Given the description of an element on the screen output the (x, y) to click on. 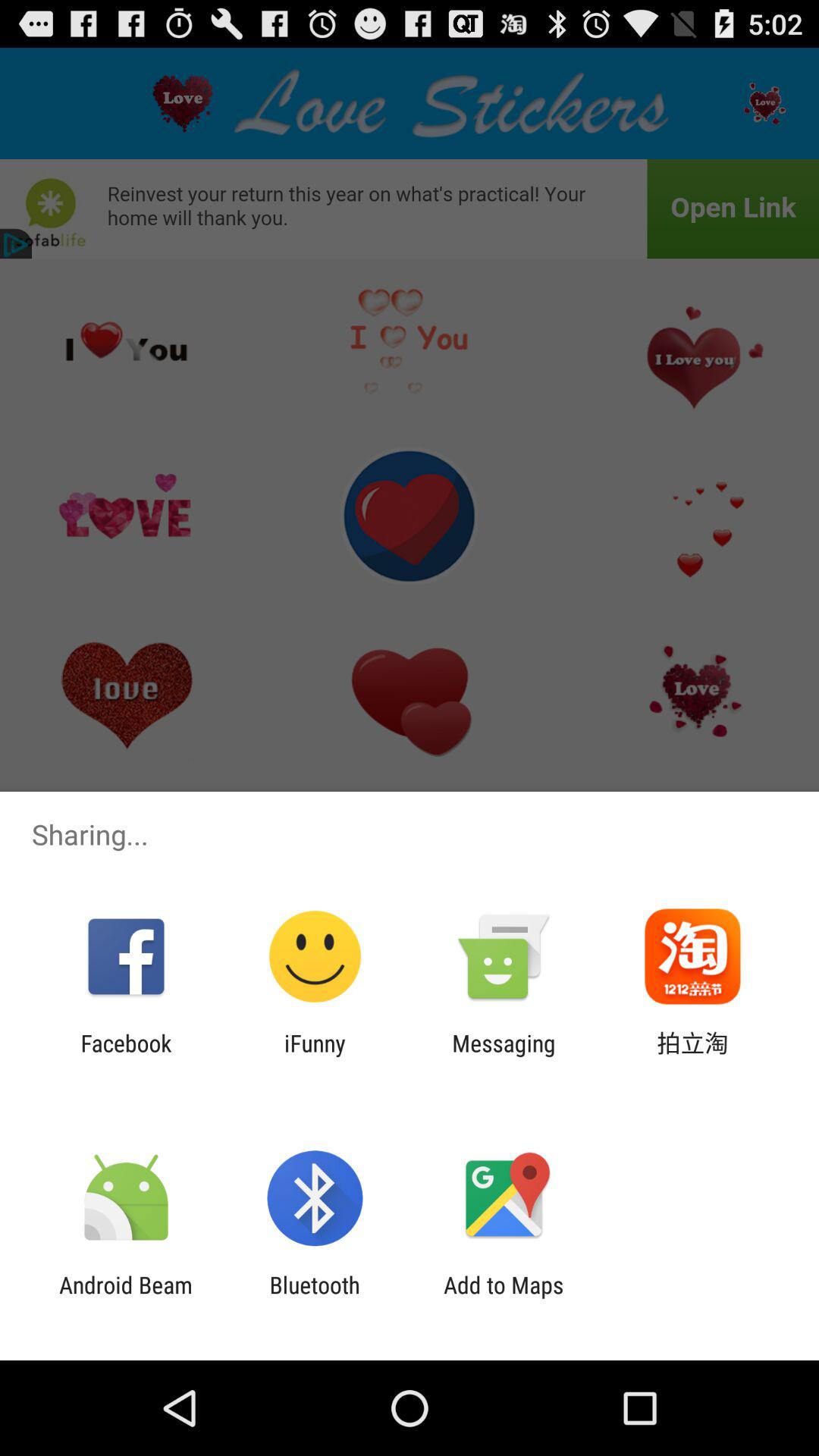
tap the item to the left of the ifunny (125, 1056)
